Given the description of an element on the screen output the (x, y) to click on. 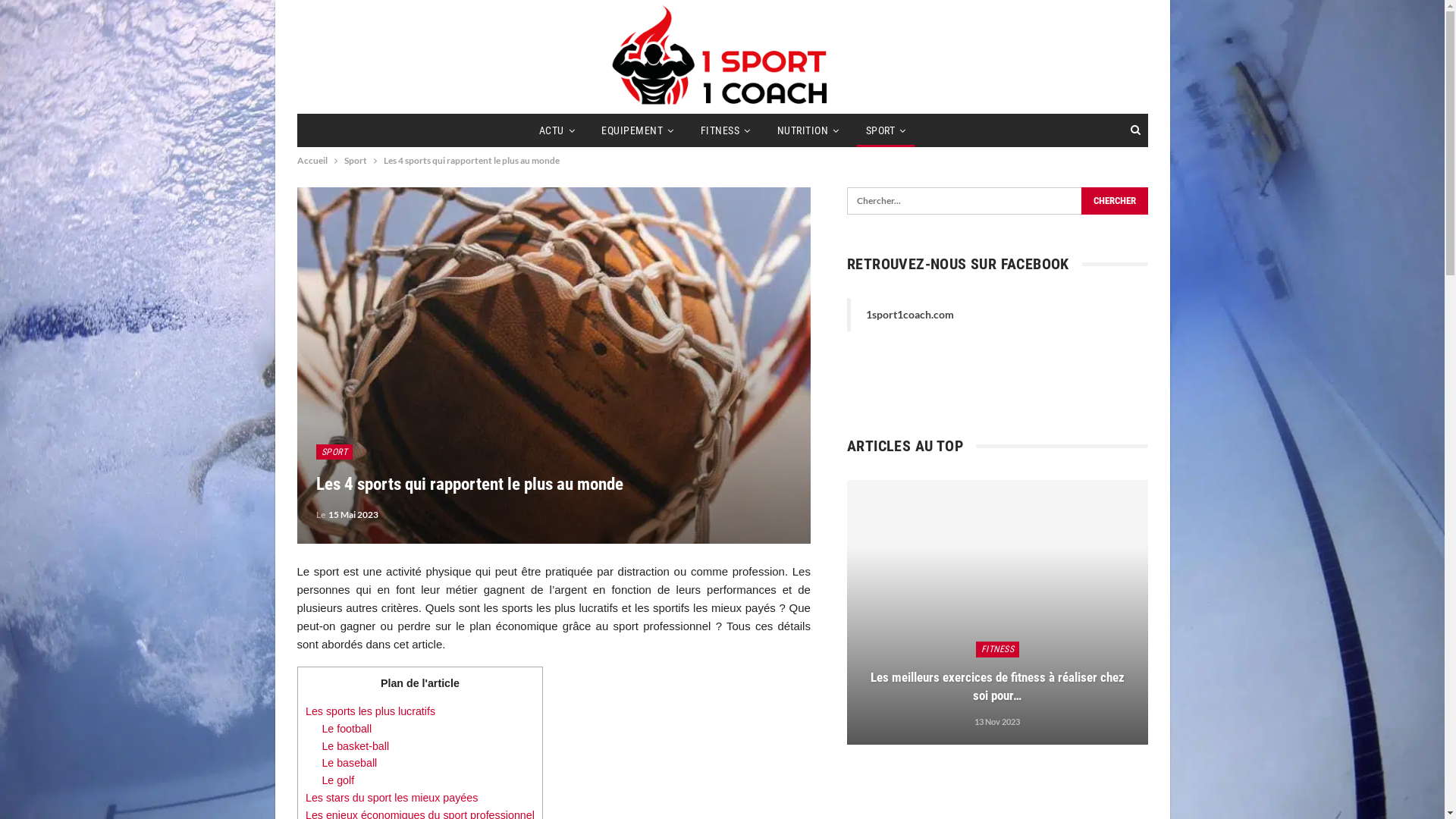
NUTRITION Element type: text (807, 130)
Le golf Element type: text (337, 780)
FITNESS Element type: text (725, 130)
ACTU Element type: text (556, 130)
1sport1coach.com Element type: text (909, 313)
Accueil Element type: text (312, 160)
FITNESS Element type: text (997, 648)
Le football Element type: text (346, 728)
Sport Element type: text (355, 160)
Rechercher: Element type: hover (997, 200)
Les sports les plus lucratifs Element type: text (369, 711)
SPORT Element type: text (885, 130)
EQUIPEMENT Element type: text (637, 130)
SPORT Element type: text (333, 451)
Le basket-ball Element type: text (355, 746)
Le baseball Element type: text (348, 762)
Chercher Element type: text (1113, 200)
